Given the description of an element on the screen output the (x, y) to click on. 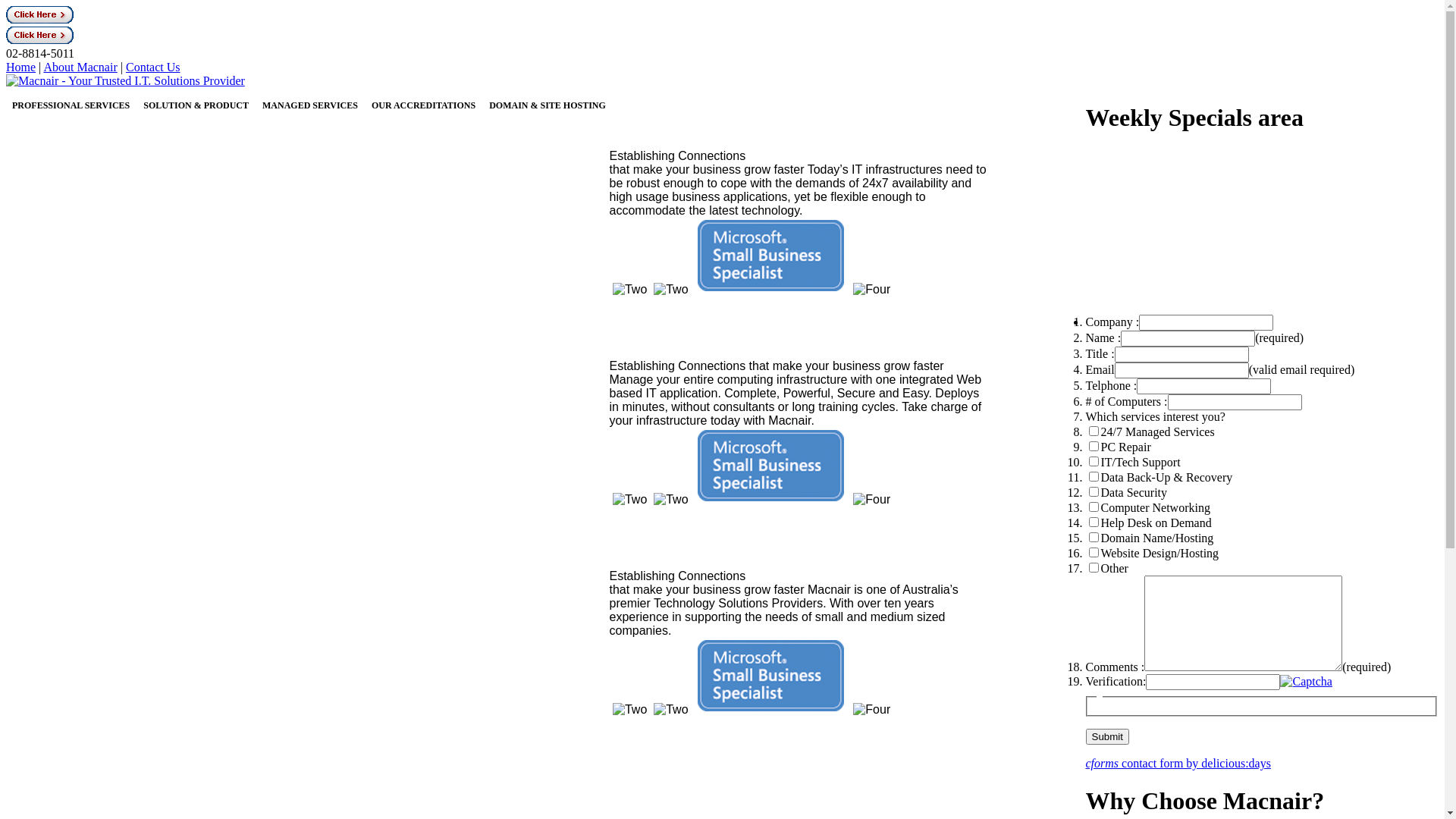
Three Element type: hover (770, 255)
Two Element type: hover (629, 709)
Three Element type: hover (770, 465)
Two Element type: hover (629, 499)
Two Element type: hover (629, 289)
Four Element type: hover (871, 289)
Home Element type: text (20, 66)
Submit Element type: text (1107, 736)
reset captcha image Element type: hover (1305, 680)
Four Element type: hover (871, 709)
Three Element type: hover (770, 675)
Two Element type: hover (670, 289)
SOLUTION & PRODUCT Element type: text (195, 104)
Two Element type: hover (670, 499)
Two Element type: hover (670, 709)
About Macnair Element type: text (79, 66)
Contact Us Element type: text (152, 66)
cforms contact form by delicious:days Element type: text (1177, 762)
Four Element type: hover (871, 499)
MANAGED SERVICES Element type: text (310, 104)
PROFESSIONAL SERVICES Element type: text (70, 104)
OUR ACCREDITATIONS Element type: text (423, 104)
DOMAIN & SITE HOSTING Element type: text (547, 104)
